Given the description of an element on the screen output the (x, y) to click on. 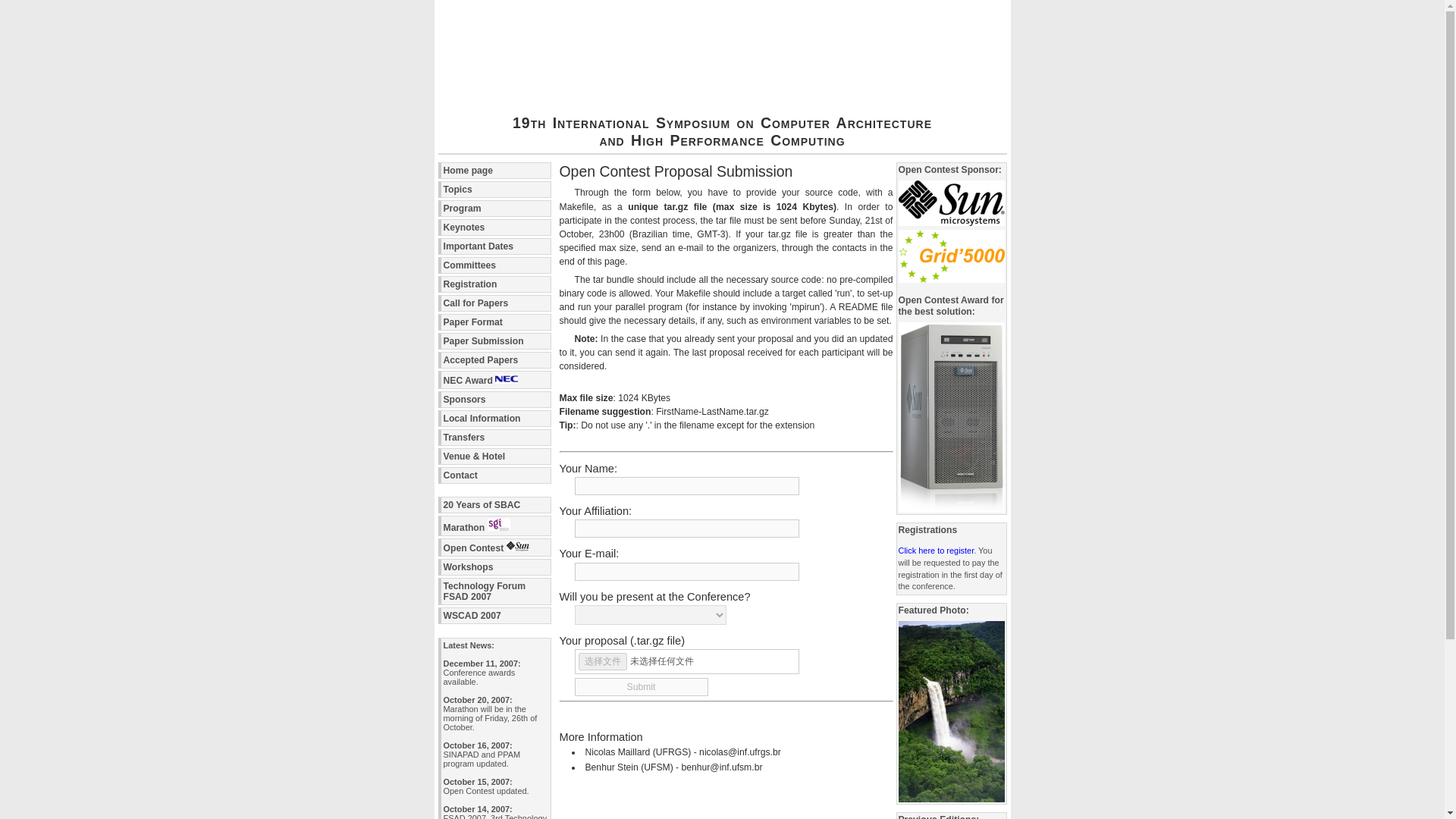
Registration (494, 284)
Program (494, 208)
Workshops (494, 566)
Paper Submission (494, 340)
Topics (494, 189)
Marathon (494, 525)
Keynotes (494, 227)
NEC Award (494, 380)
WSCAD 2007 (494, 615)
Call for Papers (494, 303)
Transfers (494, 437)
Committees (494, 265)
Submit (641, 687)
Submit (641, 687)
Home page (494, 170)
